Given the description of an element on the screen output the (x, y) to click on. 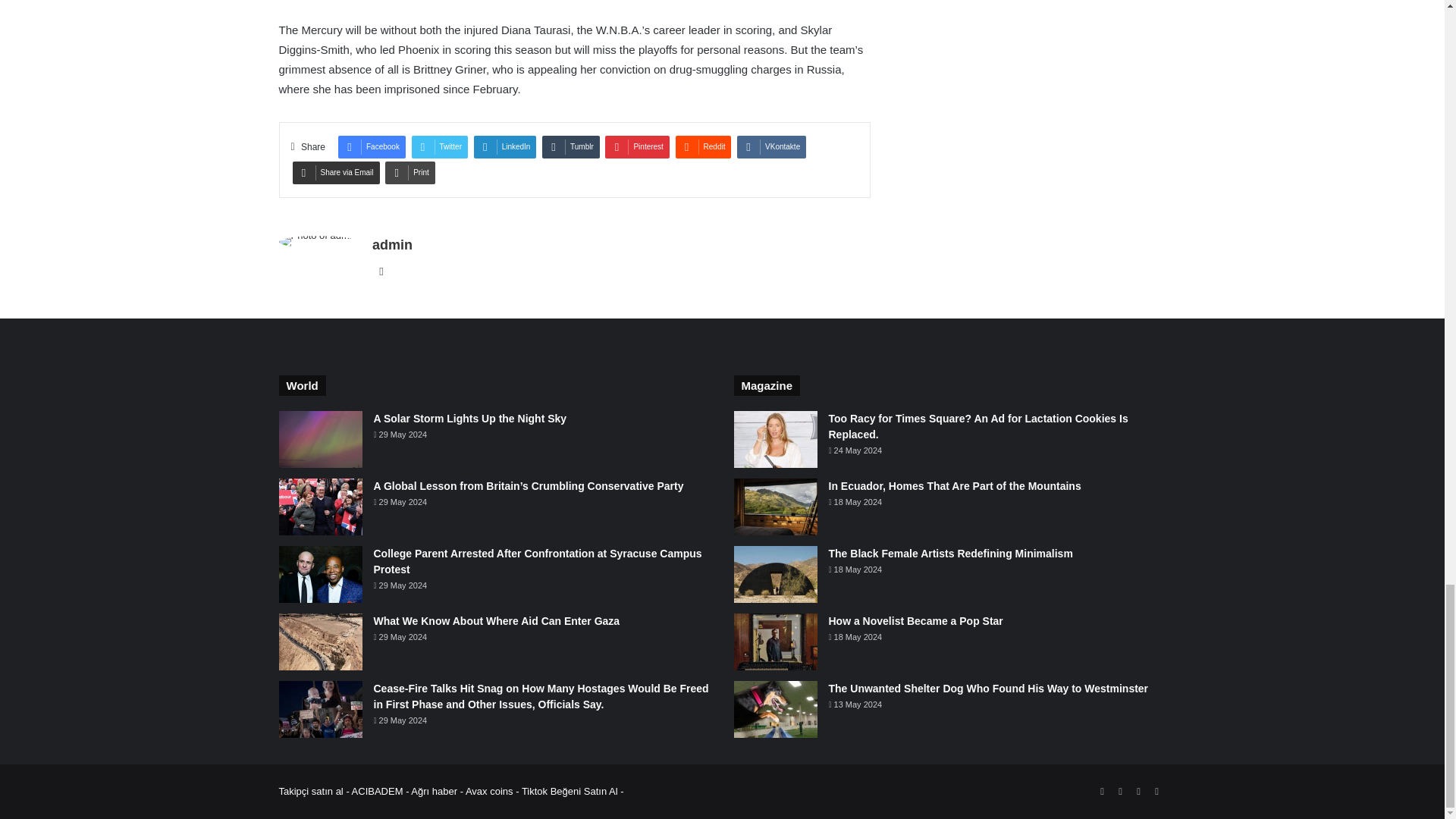
Facebook (371, 146)
LinkedIn (505, 146)
Twitter (439, 146)
Tumblr (570, 146)
